Given the description of an element on the screen output the (x, y) to click on. 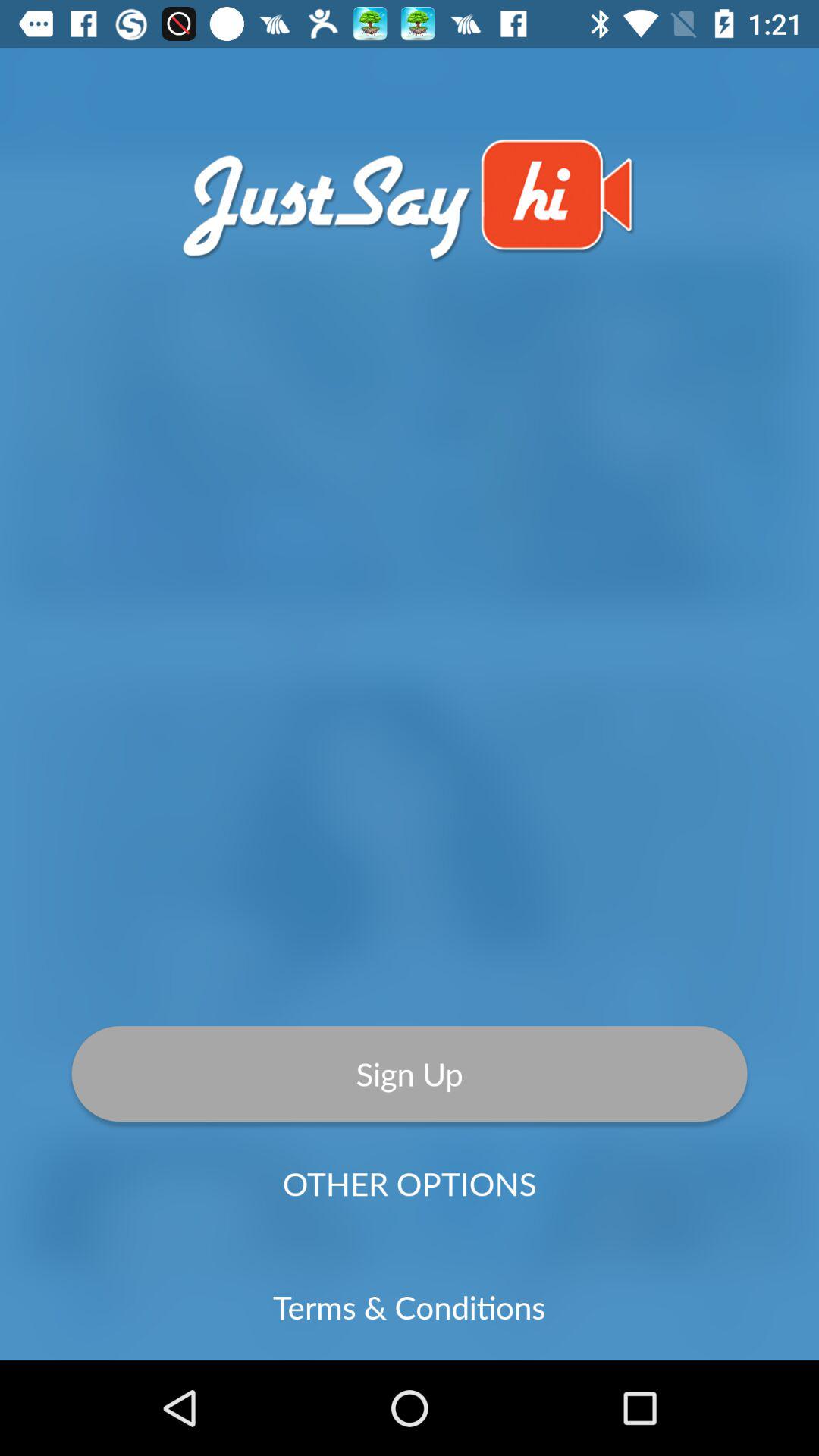
jump to terms & conditions icon (409, 1306)
